Given the description of an element on the screen output the (x, y) to click on. 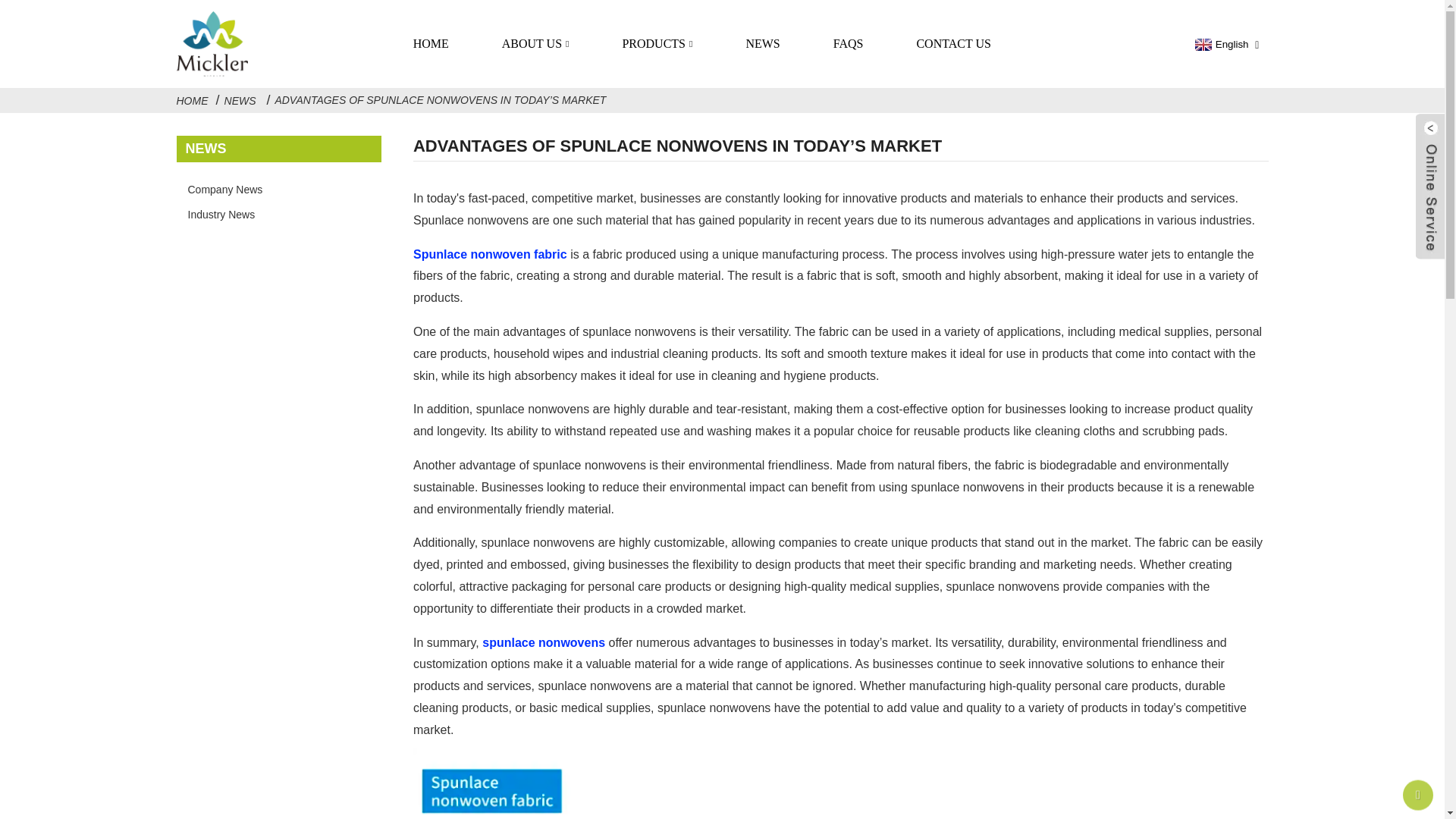
HOME (430, 43)
PRODUCTS (656, 43)
ABOUT US (535, 43)
English (1220, 43)
NEWS (762, 43)
CONTACT US (953, 43)
FAQS (848, 43)
